Given the description of an element on the screen output the (x, y) to click on. 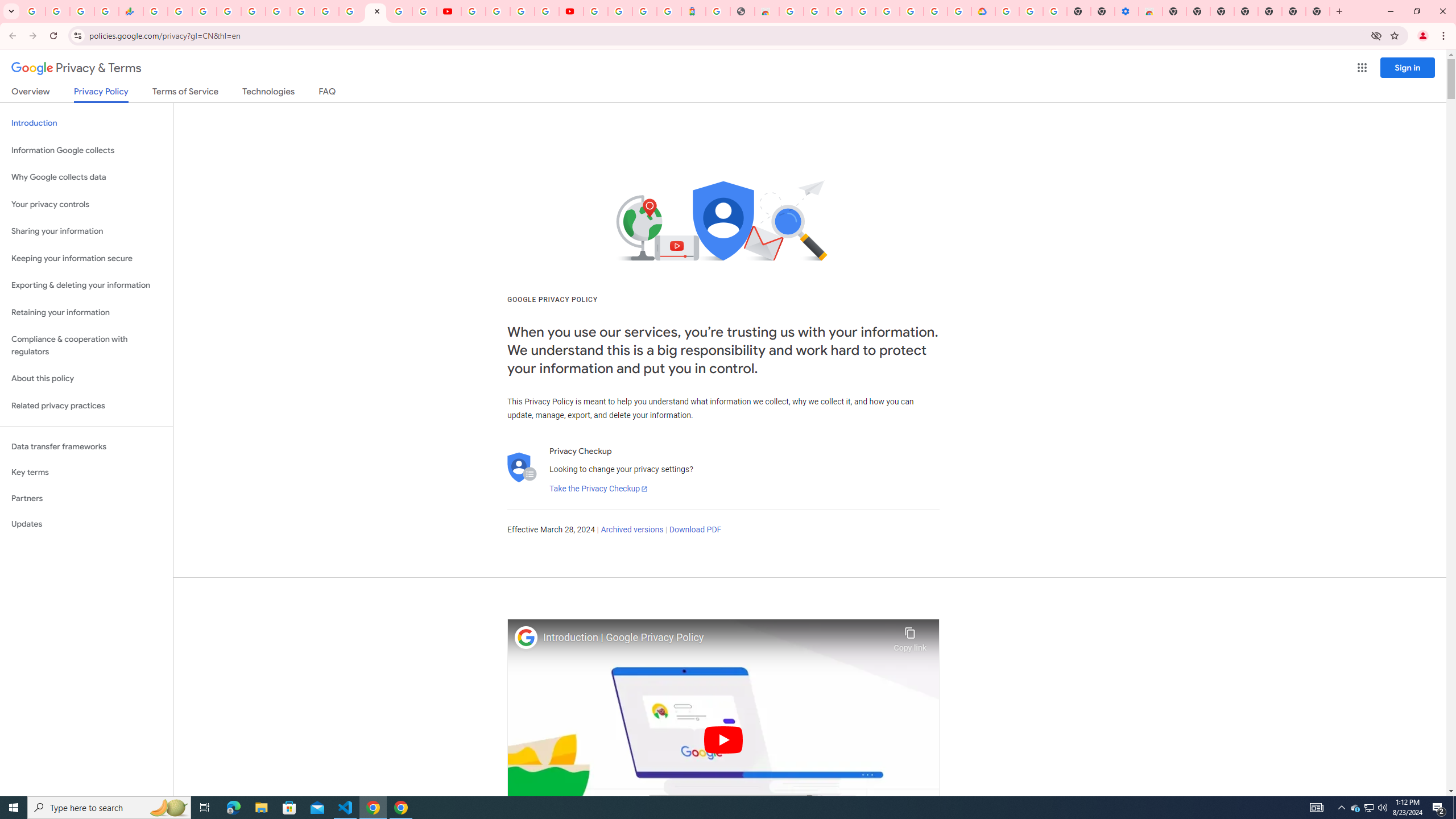
Compliance & cooperation with regulators (86, 345)
Create your Google Account (522, 11)
